Given the description of an element on the screen output the (x, y) to click on. 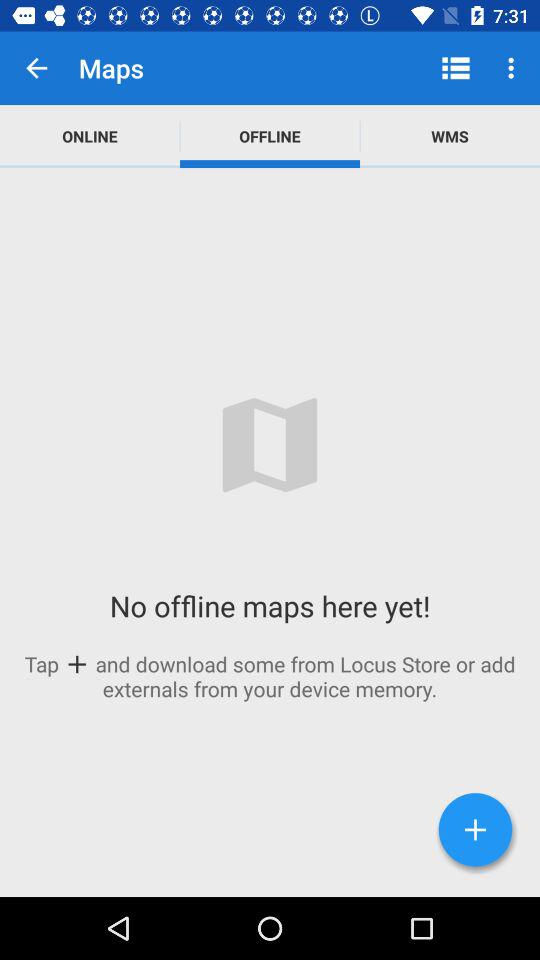
launch item to the left of maps (36, 68)
